Given the description of an element on the screen output the (x, y) to click on. 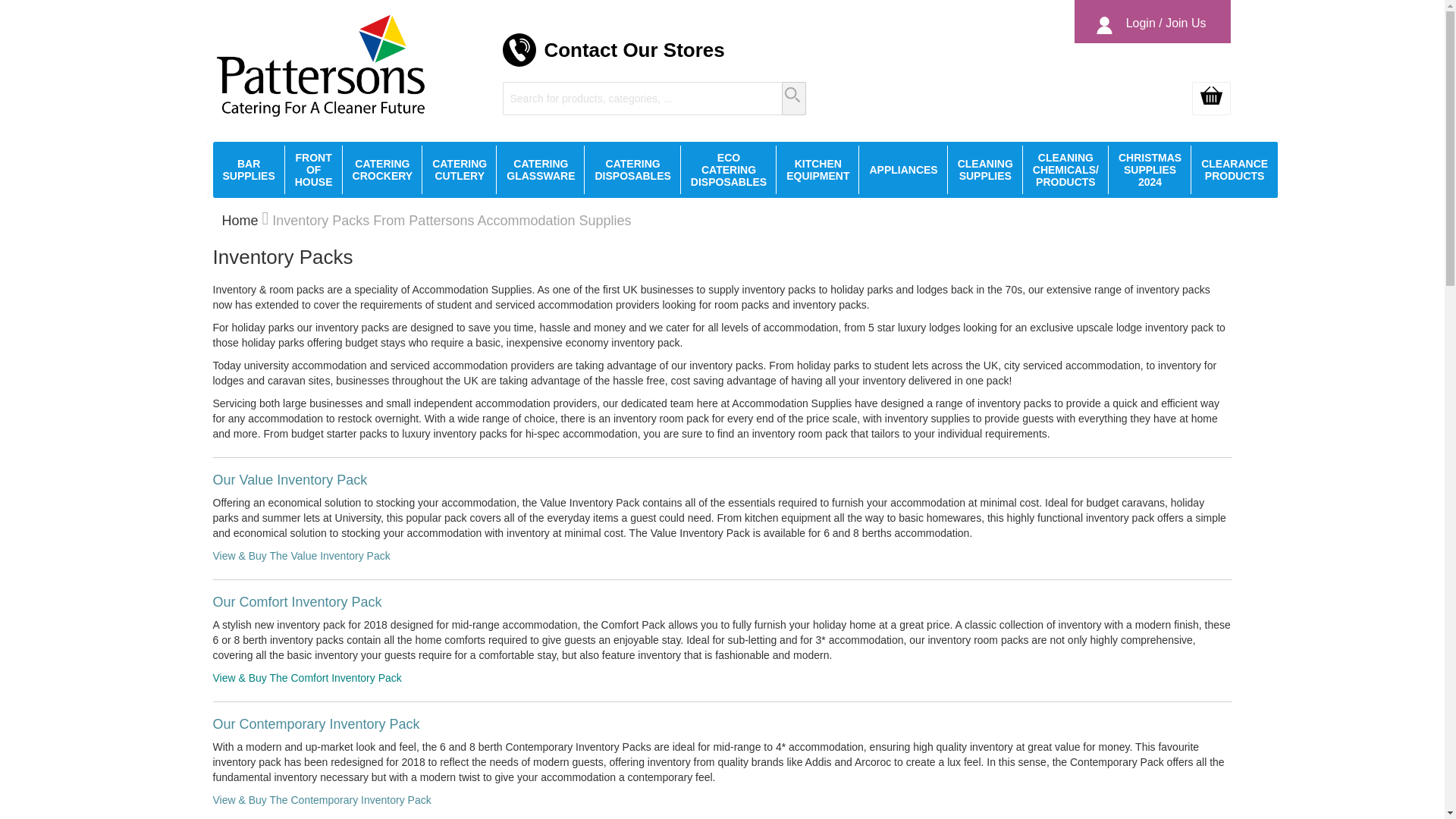
Contact Our Stores (633, 50)
Go to Home Page (239, 220)
My Basket (1211, 98)
BAR SUPPLIES (247, 169)
Contact Our Stores (633, 50)
